Given the description of an element on the screen output the (x, y) to click on. 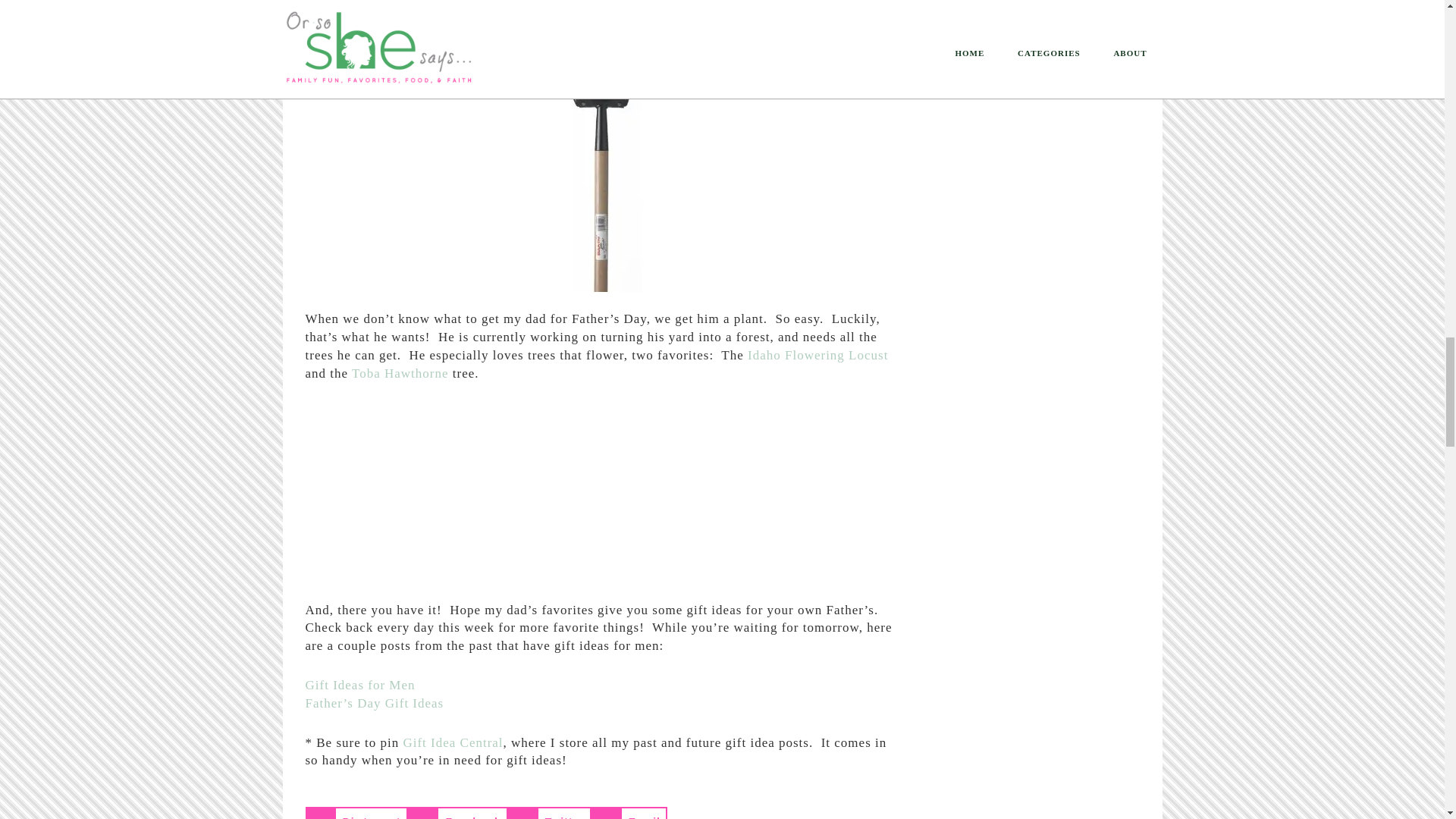
Share on Facebook (456, 812)
Save to Pinterest (355, 812)
Share on X (549, 812)
Send over email (628, 812)
